Given the description of an element on the screen output the (x, y) to click on. 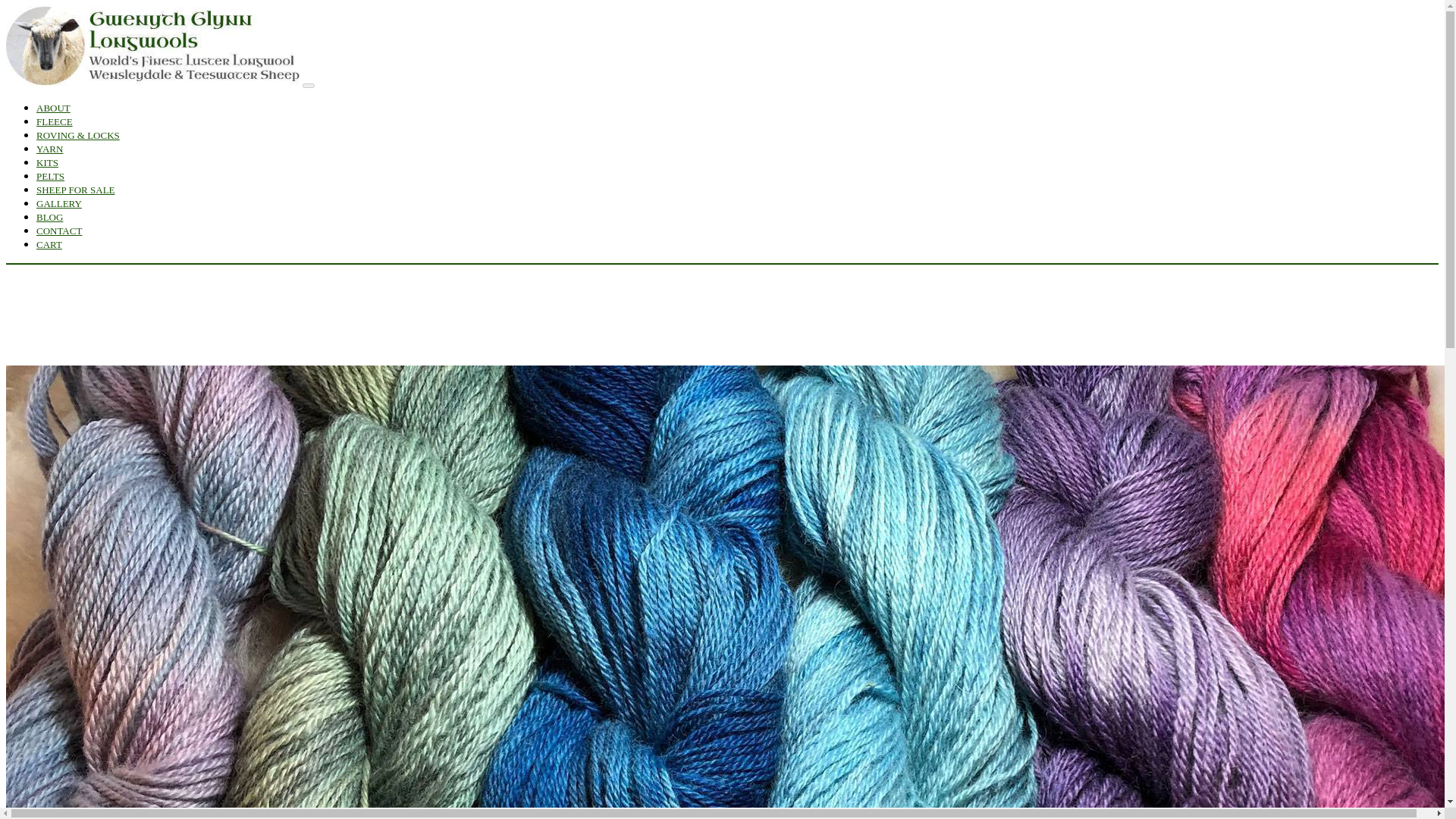
FLEECE (54, 121)
KITS (47, 162)
ABOUT (52, 107)
BLOG (49, 216)
GALLERY (58, 203)
YARN (49, 148)
PELTS (50, 175)
SHEEP FOR SALE (75, 189)
CONTACT (58, 230)
CART (49, 244)
